Given the description of an element on the screen output the (x, y) to click on. 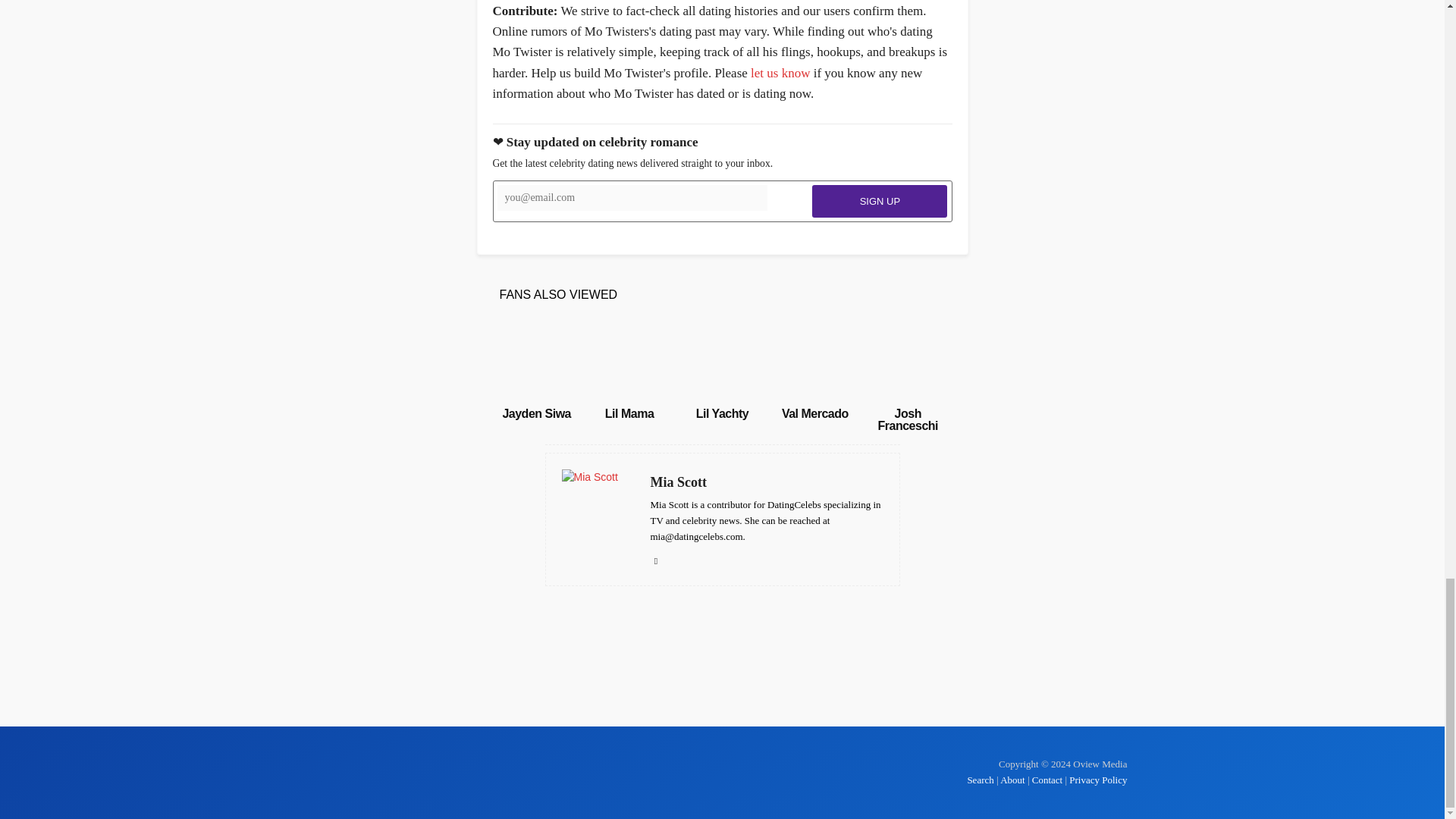
Jayden Siwa (536, 360)
Lil Yachty (721, 413)
Mia Scott (766, 482)
Jayden Siwa (536, 413)
Contact (1047, 779)
Jayden Siwa (536, 413)
Privacy Policy (1097, 779)
Josh Franceschi (907, 419)
Search (980, 779)
Lil Mama (629, 360)
